Given the description of an element on the screen output the (x, y) to click on. 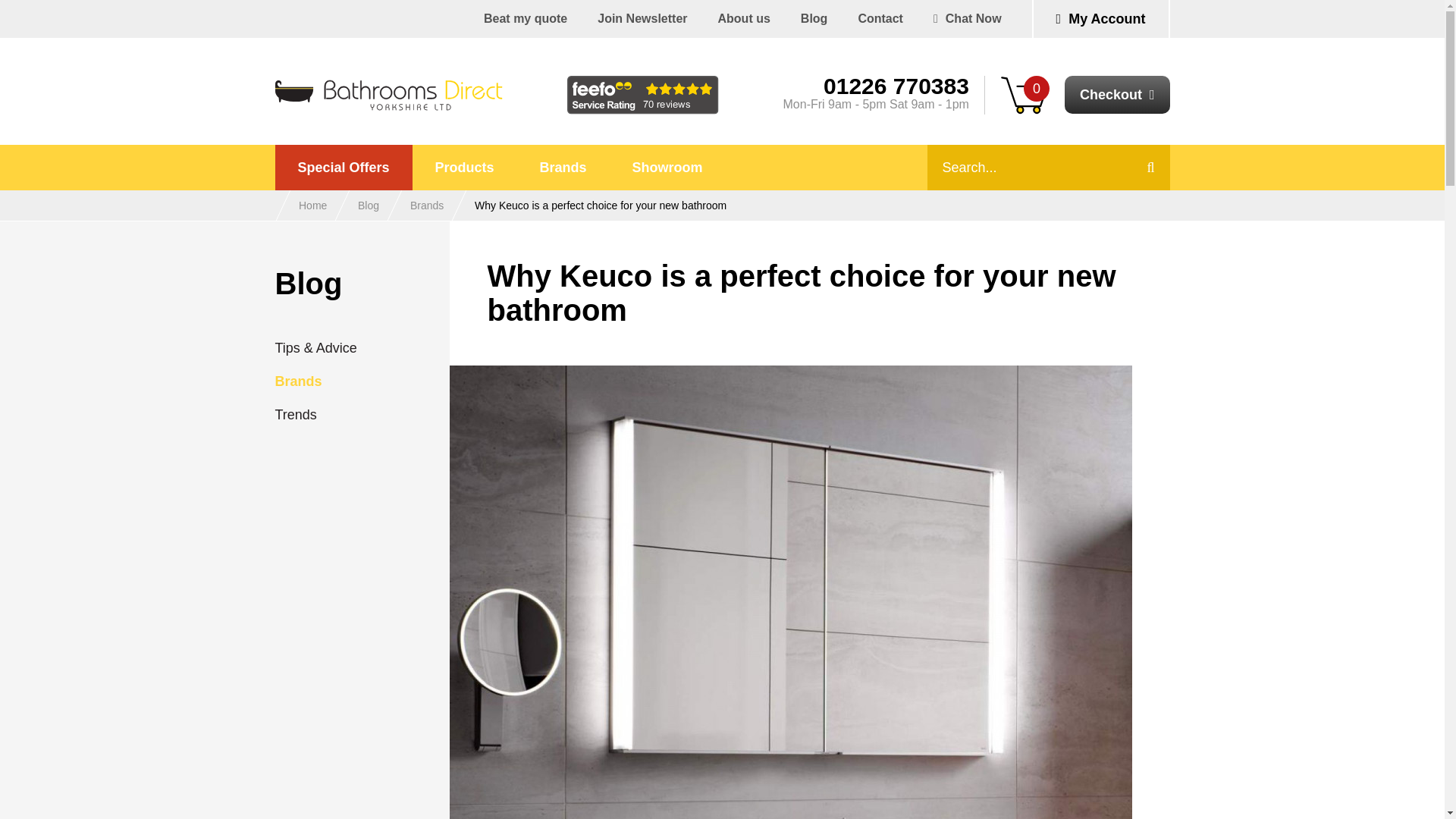
About us (743, 18)
Join Newsletter (641, 18)
Contact (879, 18)
Beat my quote (525, 18)
See what our customers say about us (643, 95)
Brands (563, 167)
Special Offers (343, 167)
Checkout (1117, 94)
My Account (1101, 18)
Products (464, 167)
Blog (814, 18)
